Given the description of an element on the screen output the (x, y) to click on. 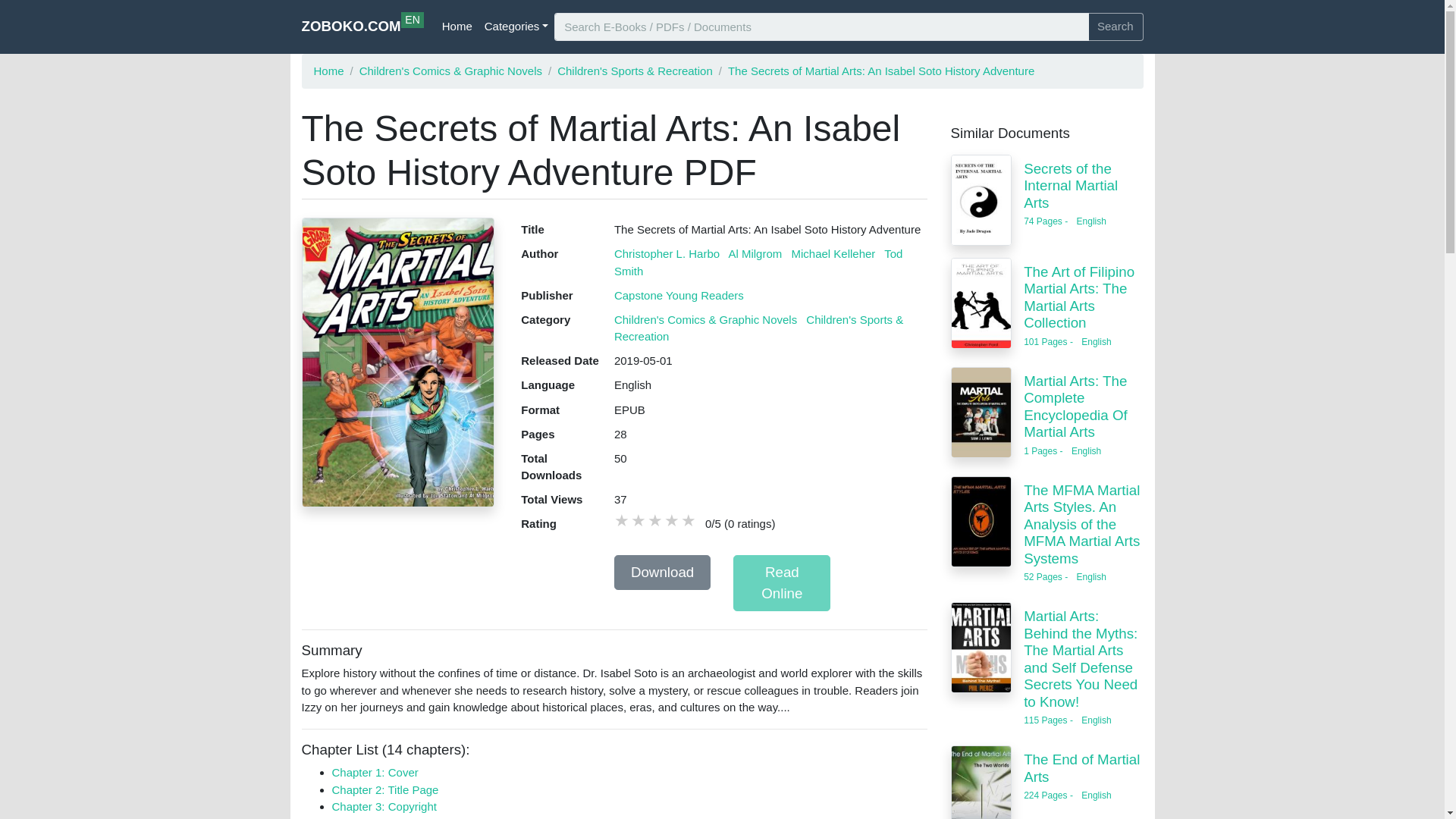
Tod Smith (758, 262)
Chapter 3: Copyright (383, 806)
Christopher L. Harbo (666, 253)
Search (1114, 26)
Home (457, 26)
The End of Martial Arts (362, 26)
text (980, 782)
Chapter 2: Title Page (689, 520)
text (385, 789)
Chapter 4: Table of Contents (655, 520)
Home (404, 818)
Read Online (328, 69)
Categories (781, 582)
